Given the description of an element on the screen output the (x, y) to click on. 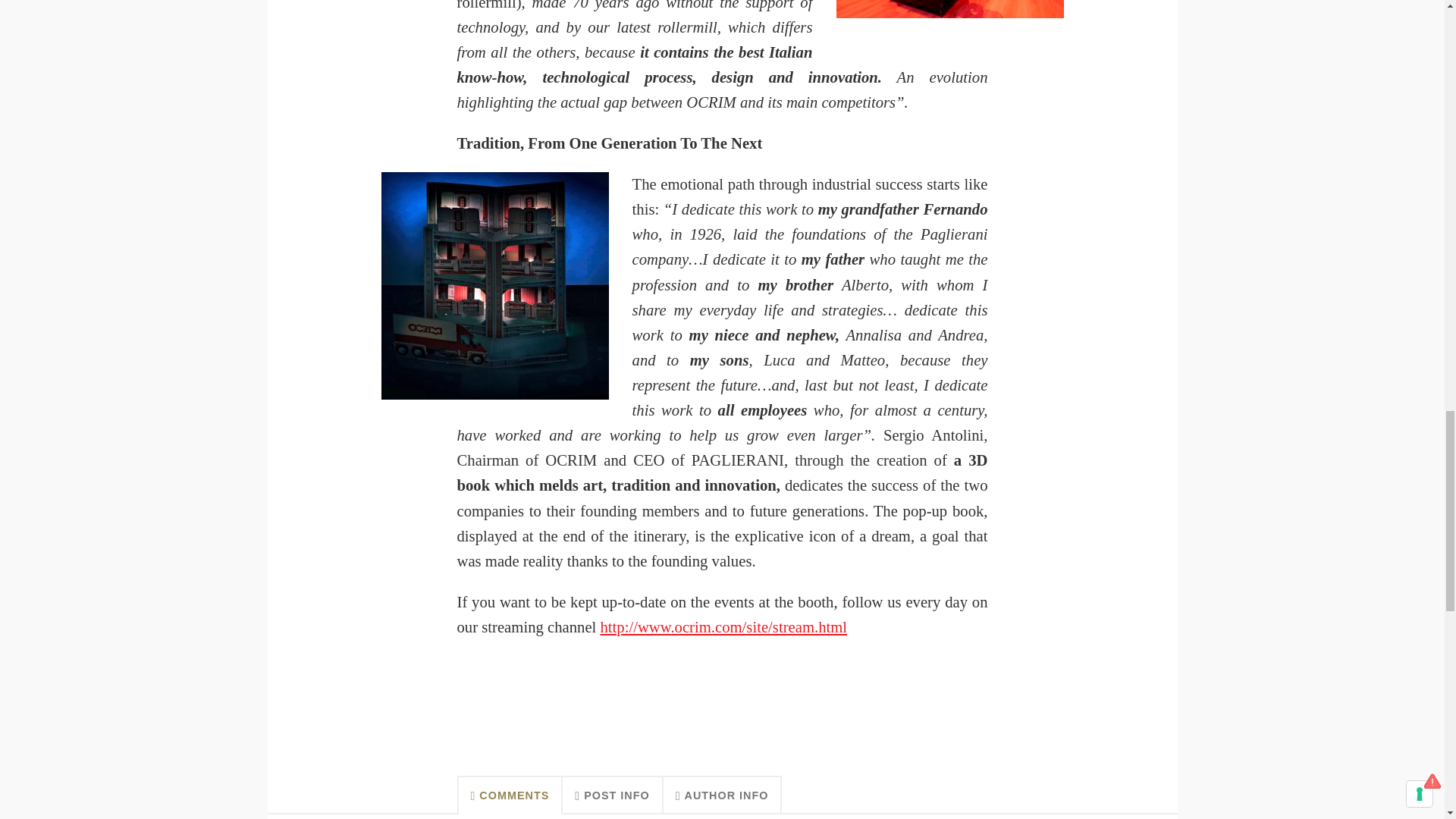
POST INFO (612, 794)
AUTHOR INFO (723, 794)
COMMENTS (509, 794)
